Given the description of an element on the screen output the (x, y) to click on. 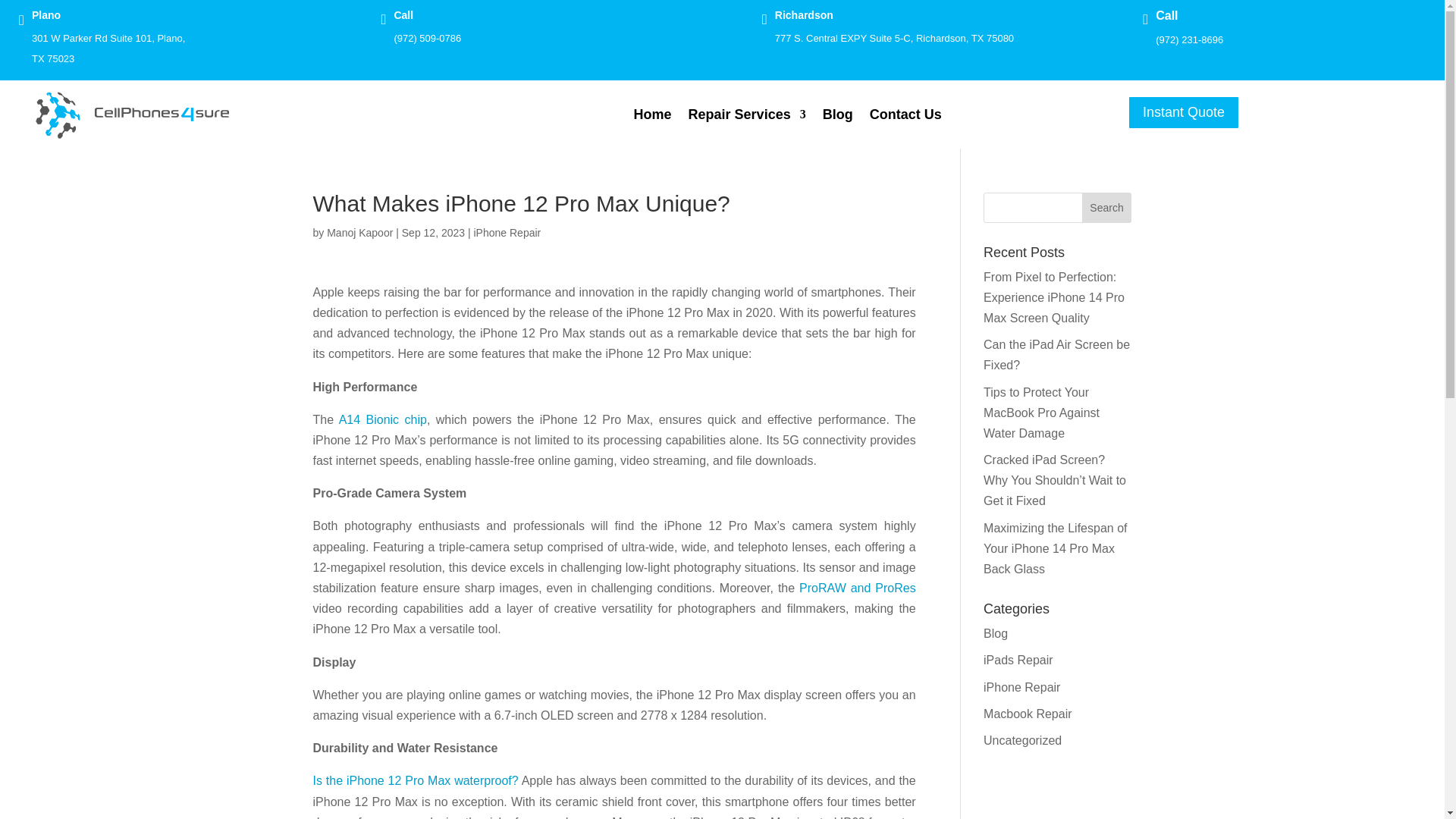
Contact Us (905, 117)
Posts by Manoj Kapoor (359, 232)
Instant Quote (1183, 112)
Search (1106, 207)
Repair Services (747, 117)
Blog (837, 117)
Home (652, 117)
